Given the description of an element on the screen output the (x, y) to click on. 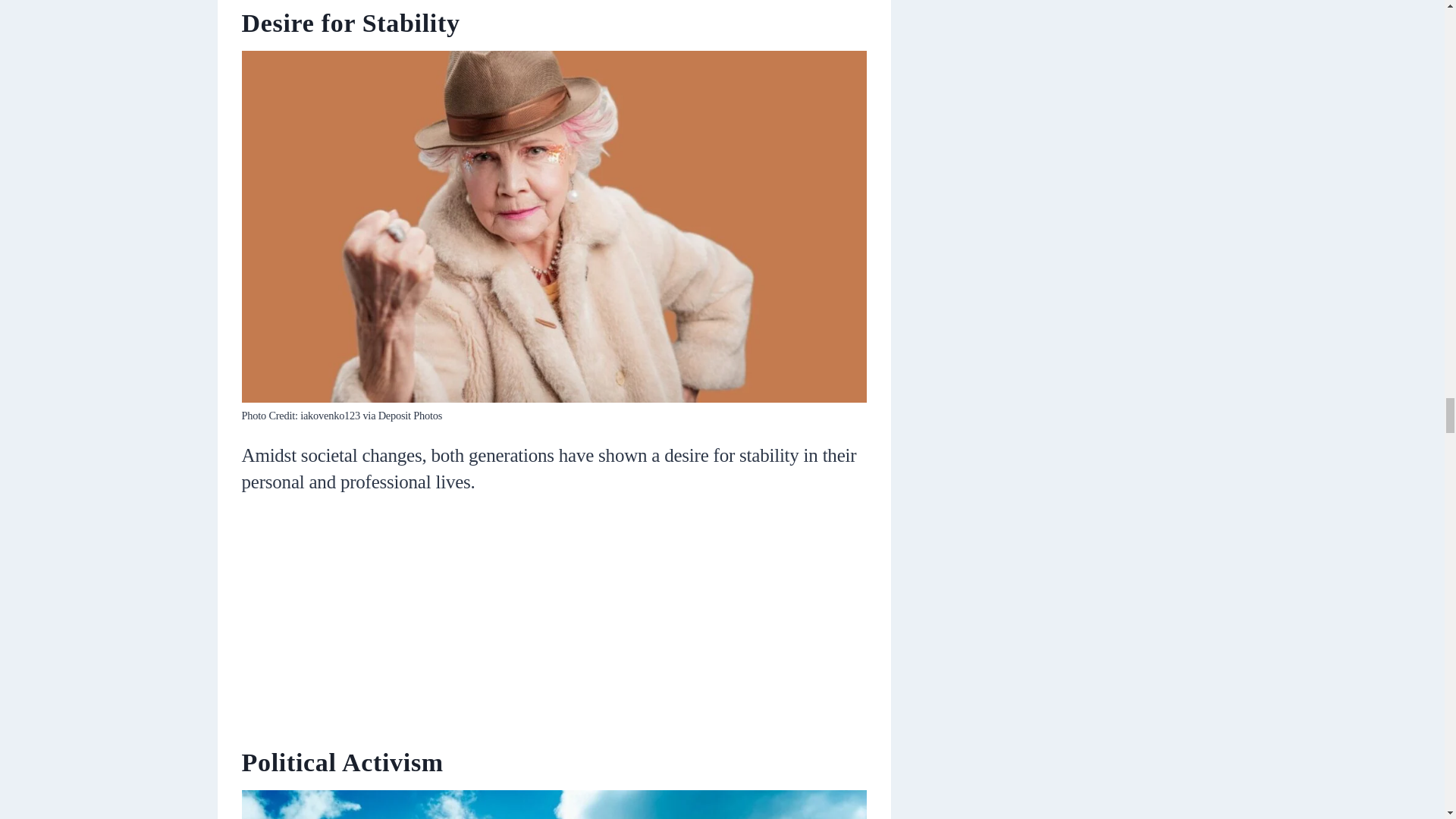
18 Reasons Why Millennials Just Might Be the New Boomers 13 (554, 804)
